Given the description of an element on the screen output the (x, y) to click on. 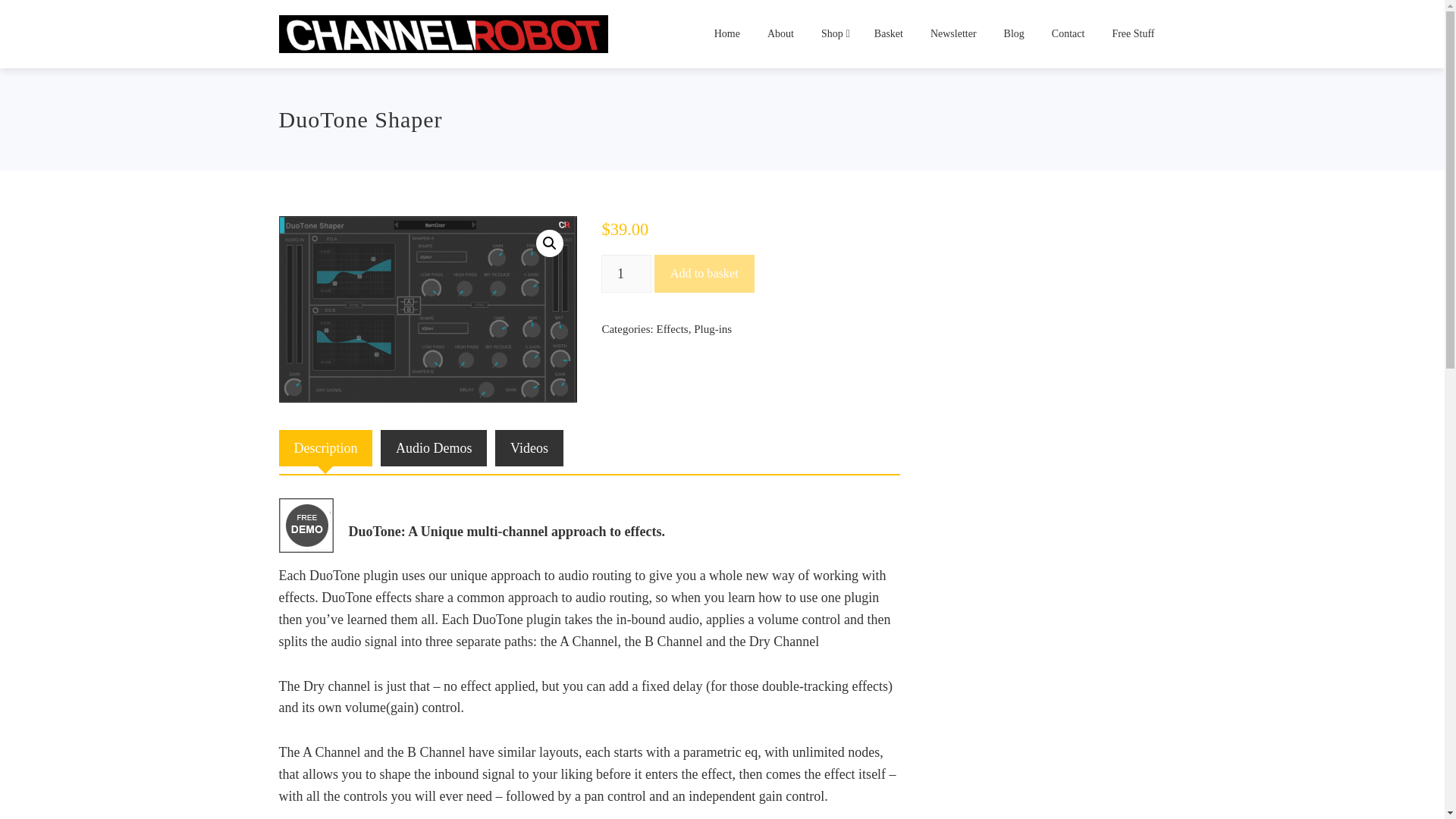
Contact (1068, 33)
Basket (888, 33)
Newsletter (953, 33)
1 (625, 273)
About (780, 33)
Blog (1013, 33)
Add to basket (703, 273)
Free Stuff (1133, 33)
Videos (529, 447)
Effects (671, 328)
